Given the description of an element on the screen output the (x, y) to click on. 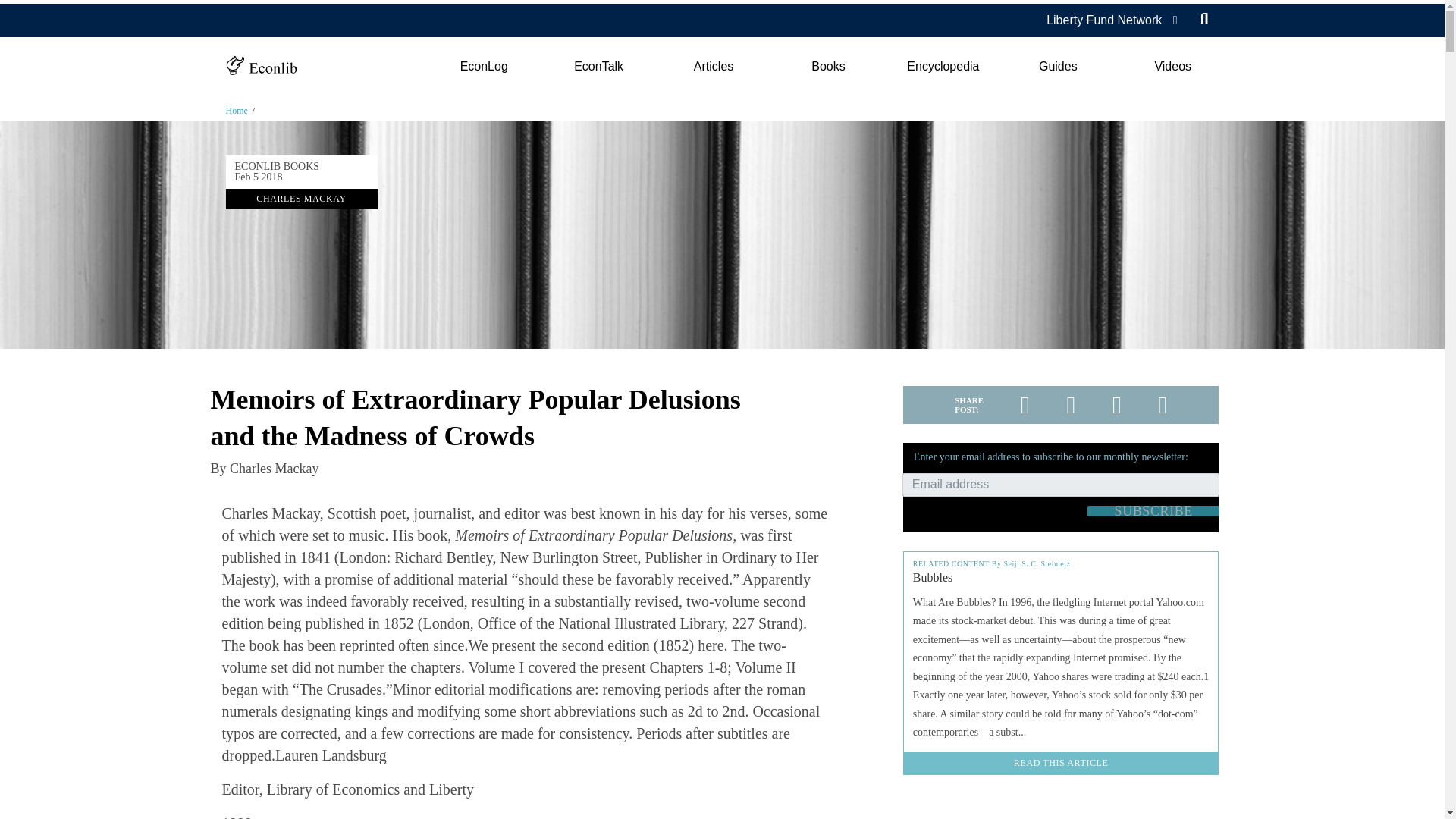
EconLog (483, 66)
Articles (713, 66)
Liberty Fund Network (1104, 20)
EconTalk (598, 66)
Books (828, 66)
Subscribe (1153, 511)
Encyclopedia (942, 66)
